Given the description of an element on the screen output the (x, y) to click on. 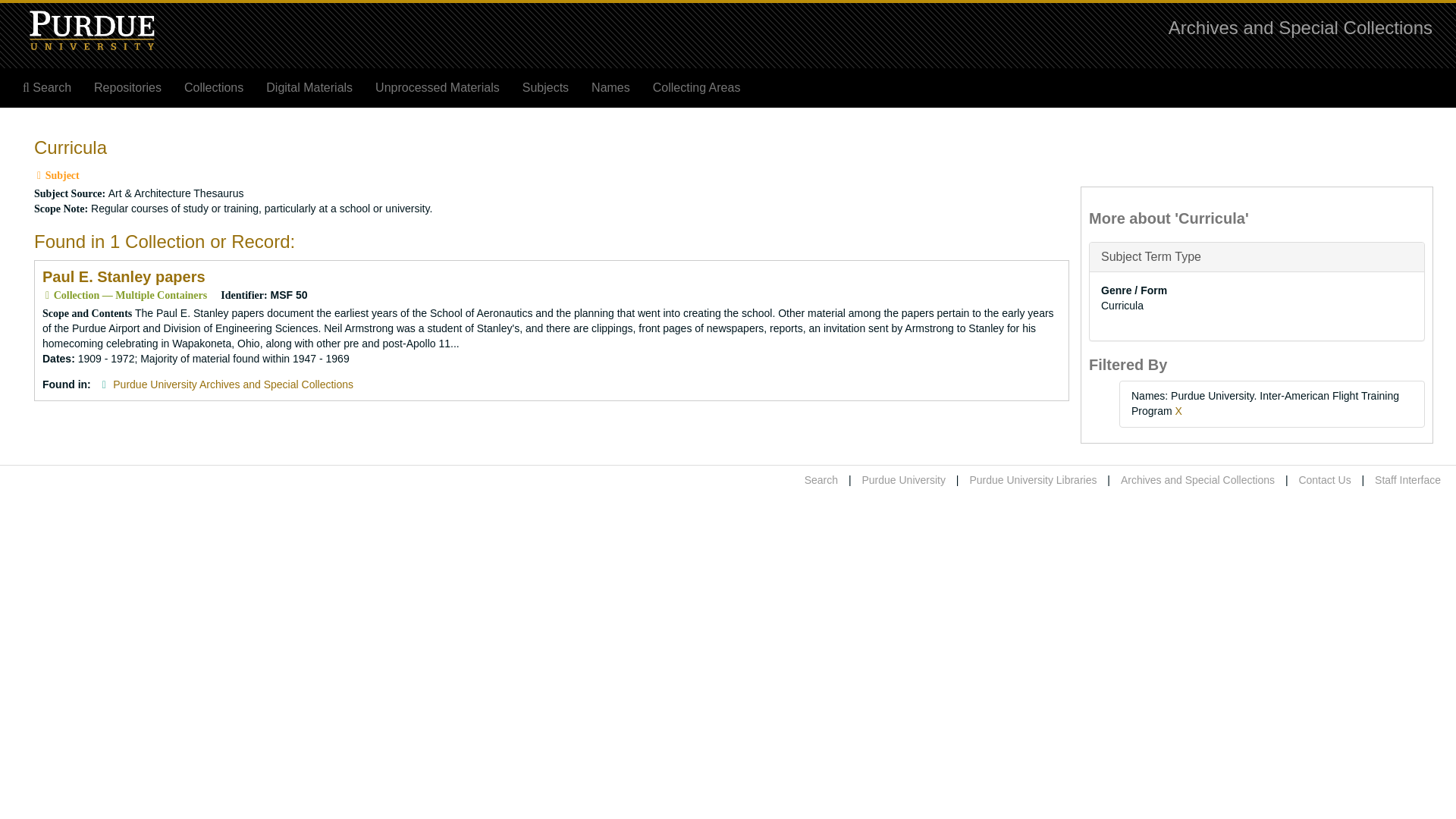
Purdue University Libraries Home (1032, 480)
Unprocessed Materials (437, 87)
Purdue University Archives and Special Collections (233, 384)
Search (821, 480)
Staff Interface (1407, 480)
Archives and Special Collections (1198, 480)
Names (610, 87)
Digital Materials (309, 87)
Page Actions (1139, 130)
Subject Term Type (1150, 256)
Archives and Special Collections (1300, 27)
Purdue University Libraries (1032, 480)
Search (46, 87)
Collecting Areas (697, 87)
Return to the Archives Home (1300, 27)
